Given the description of an element on the screen output the (x, y) to click on. 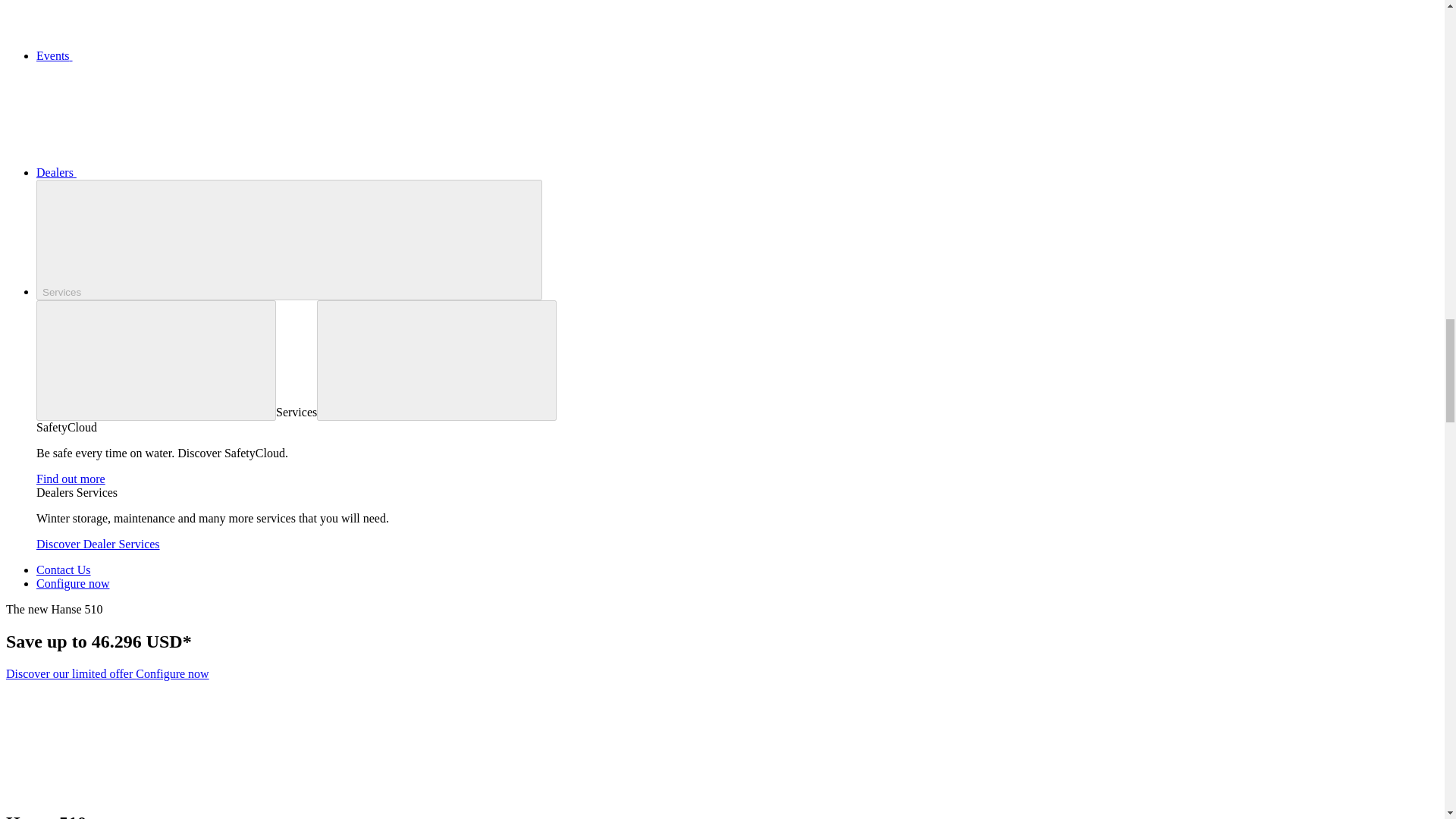
Find out more (70, 478)
Events (167, 55)
Dealers (170, 172)
Services (288, 239)
Discover Dealer Services (98, 543)
Configure now (72, 583)
Dealers (170, 172)
Events (167, 55)
Discover our limited offer  (70, 673)
Contact Us (63, 569)
Configure now (171, 673)
